Given the description of an element on the screen output the (x, y) to click on. 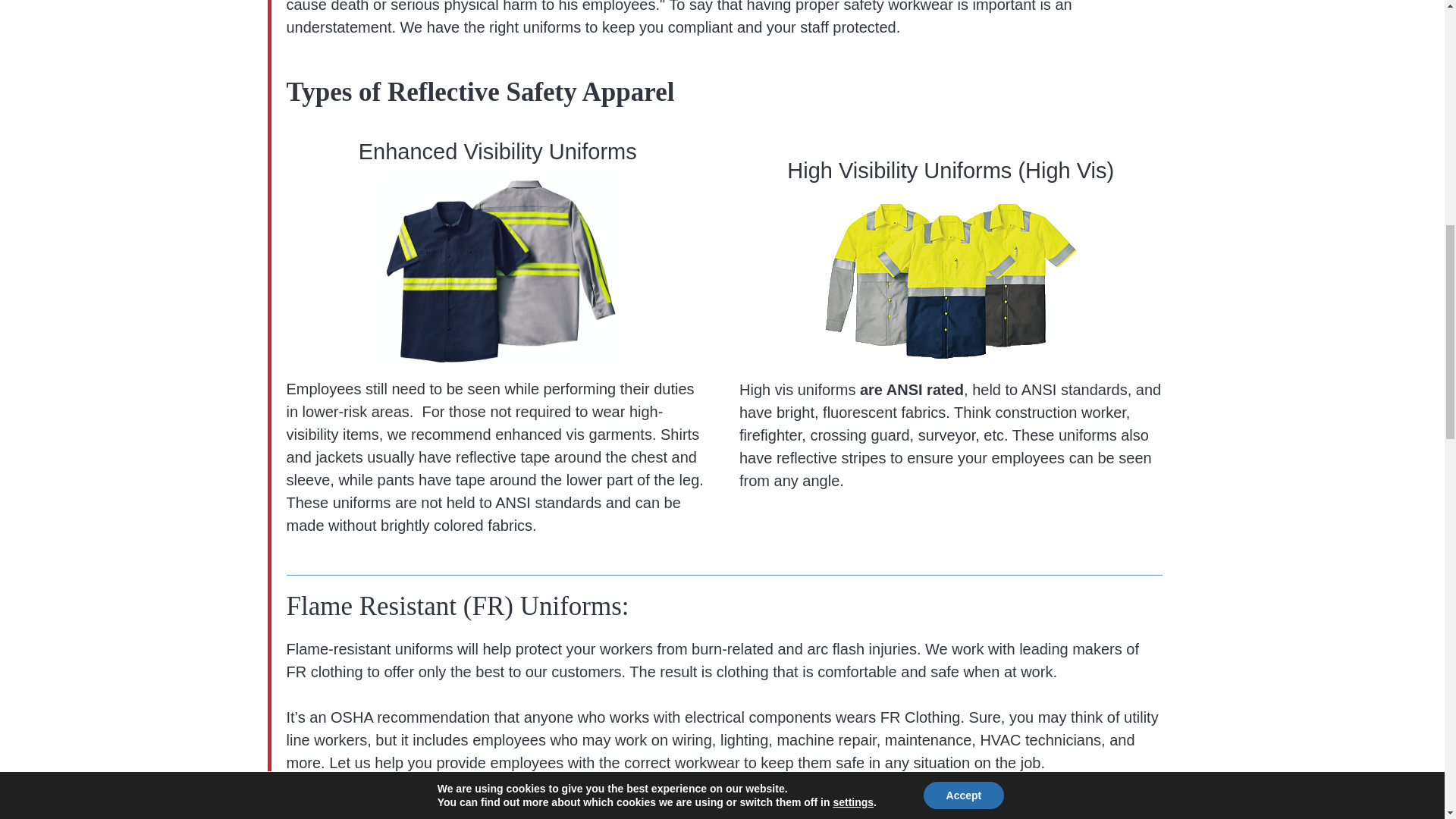
hi-res shirts (950, 280)
FR Garments (950, 815)
Enhanced Visibility Uniforms (496, 271)
